Given the description of an element on the screen output the (x, y) to click on. 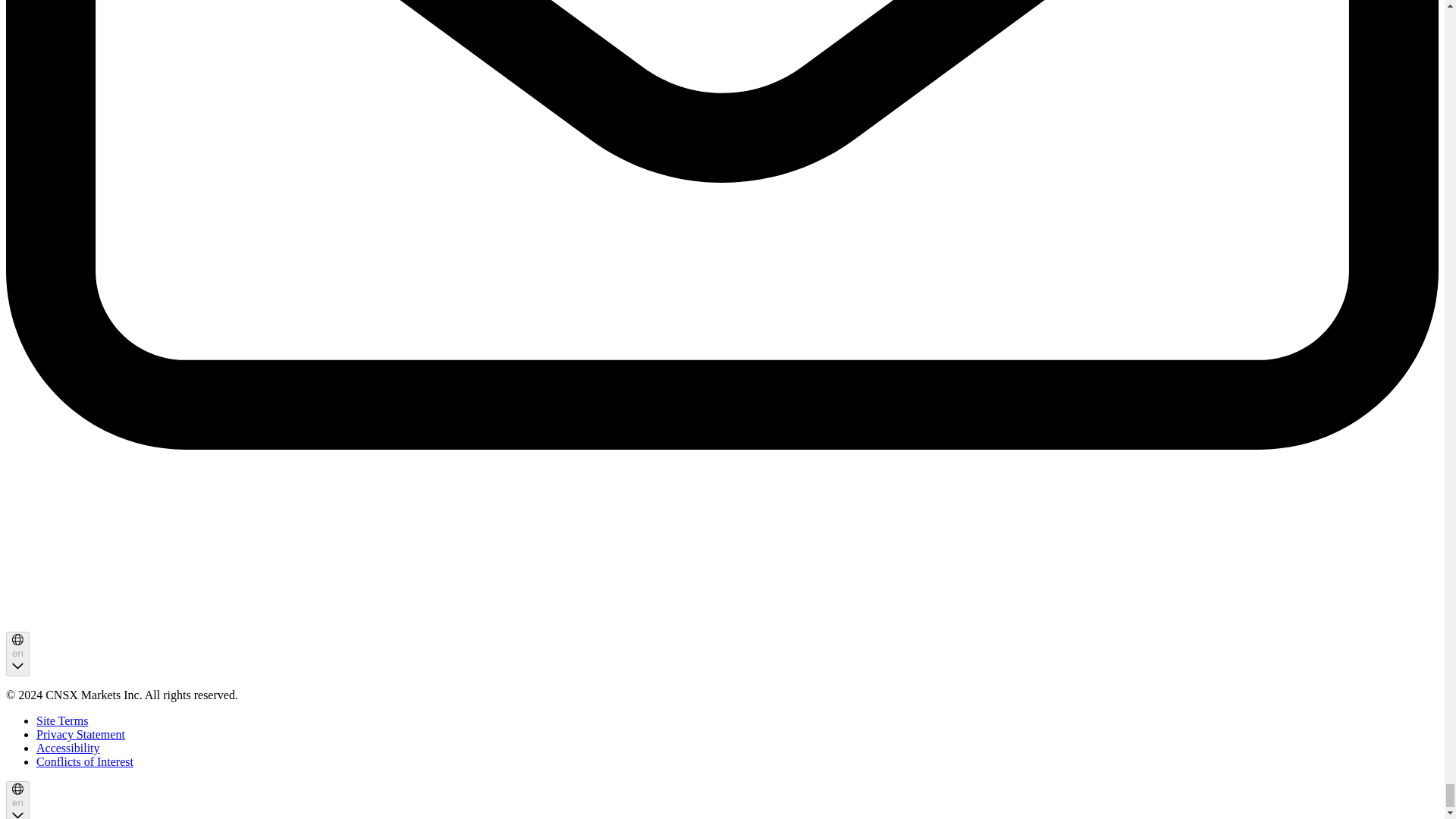
Conflicts of Interest (84, 761)
Accessibility (68, 748)
Privacy Statement (80, 734)
Site Terms (61, 720)
